Given the description of an element on the screen output the (x, y) to click on. 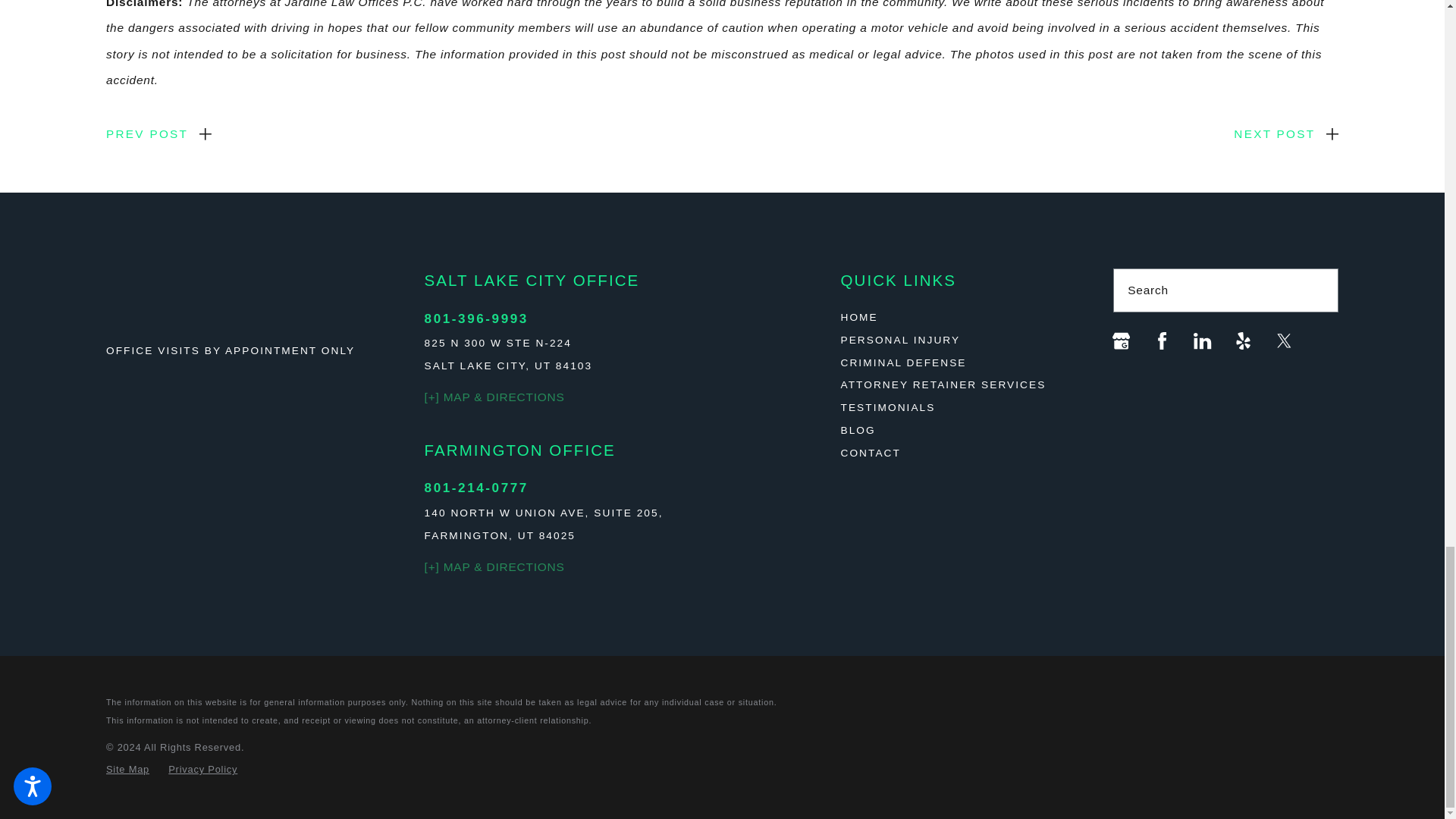
Twitter (1283, 340)
Search Icon (1318, 290)
Search Our Site (1318, 289)
LinkedIn (1202, 340)
Google Business Profile (1120, 340)
Facebook (1161, 340)
Yelp (1243, 340)
